Given the description of an element on the screen output the (x, y) to click on. 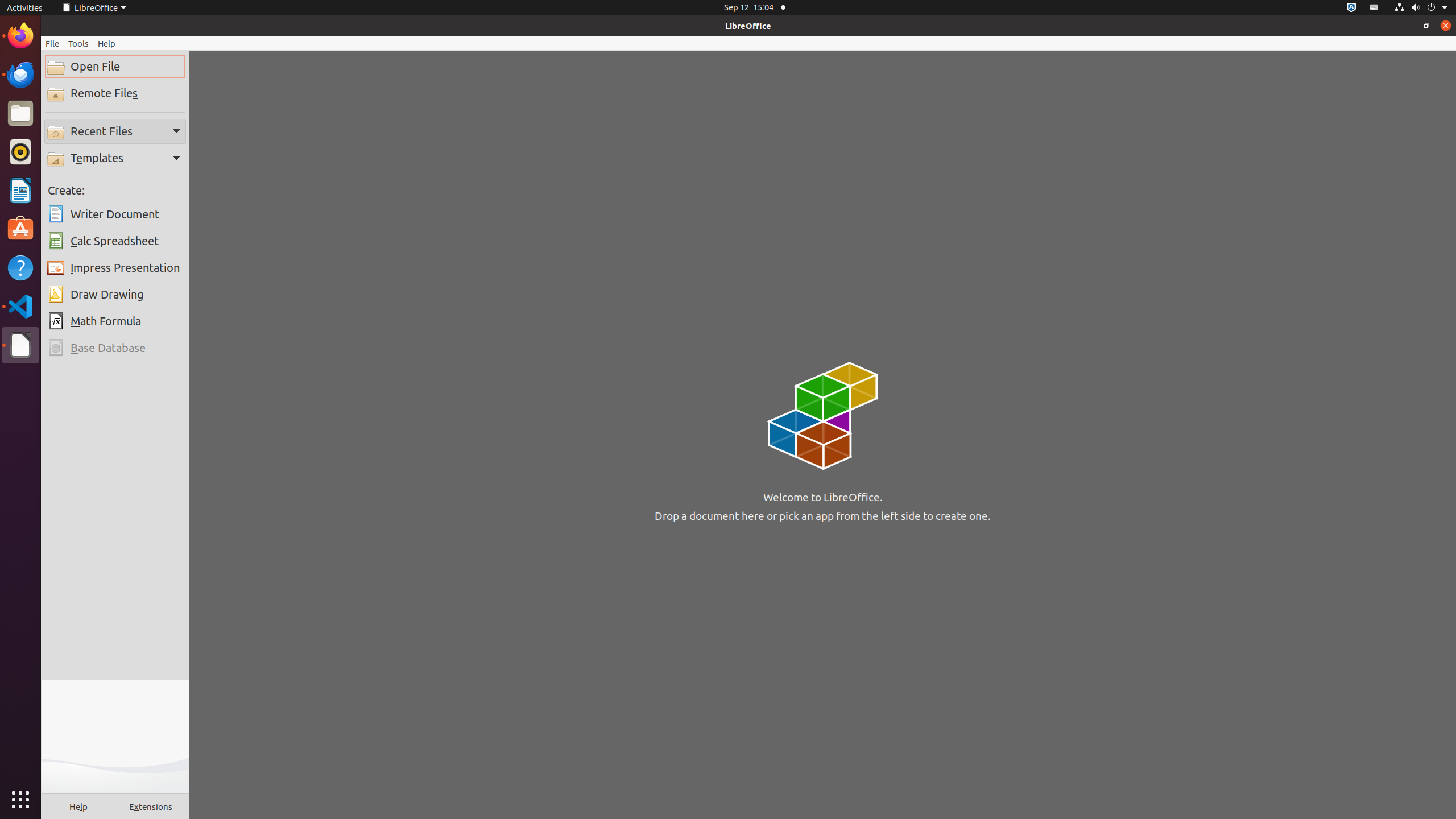
Math Formula Element type: push-button (114, 320)
Writer Document Element type: push-button (114, 213)
LibreOffice Element type: menu (93, 7)
